Given the description of an element on the screen output the (x, y) to click on. 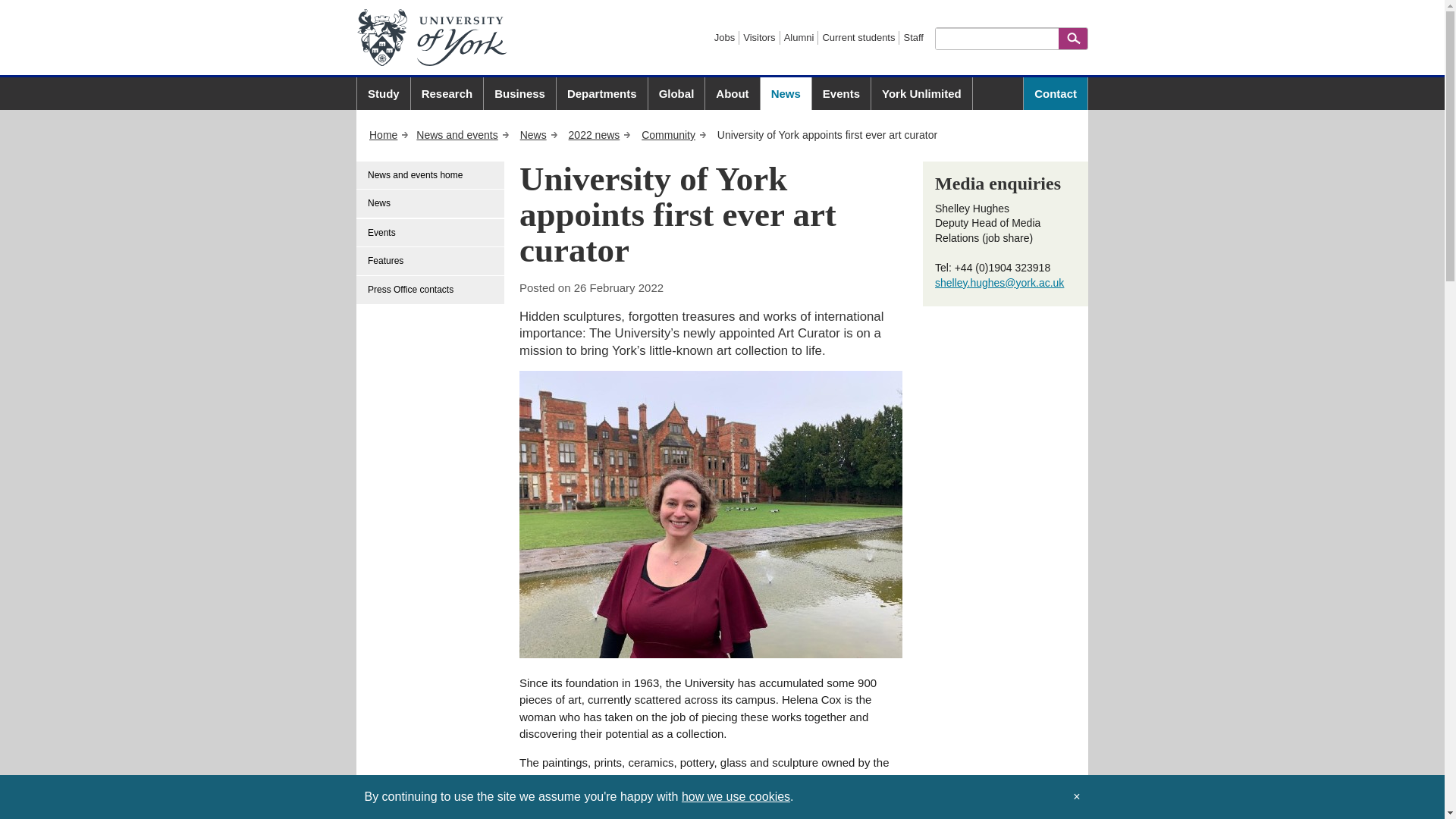
Alumni (798, 37)
York Unlimited (921, 92)
Research (446, 92)
Community (674, 134)
Staff (912, 37)
Events (841, 92)
Events (430, 233)
Features (430, 261)
Jobs (724, 37)
News and events home (430, 175)
University homepage (389, 134)
Departments (601, 92)
Current students (858, 37)
Contact (1055, 92)
Business (519, 92)
